Given the description of an element on the screen output the (x, y) to click on. 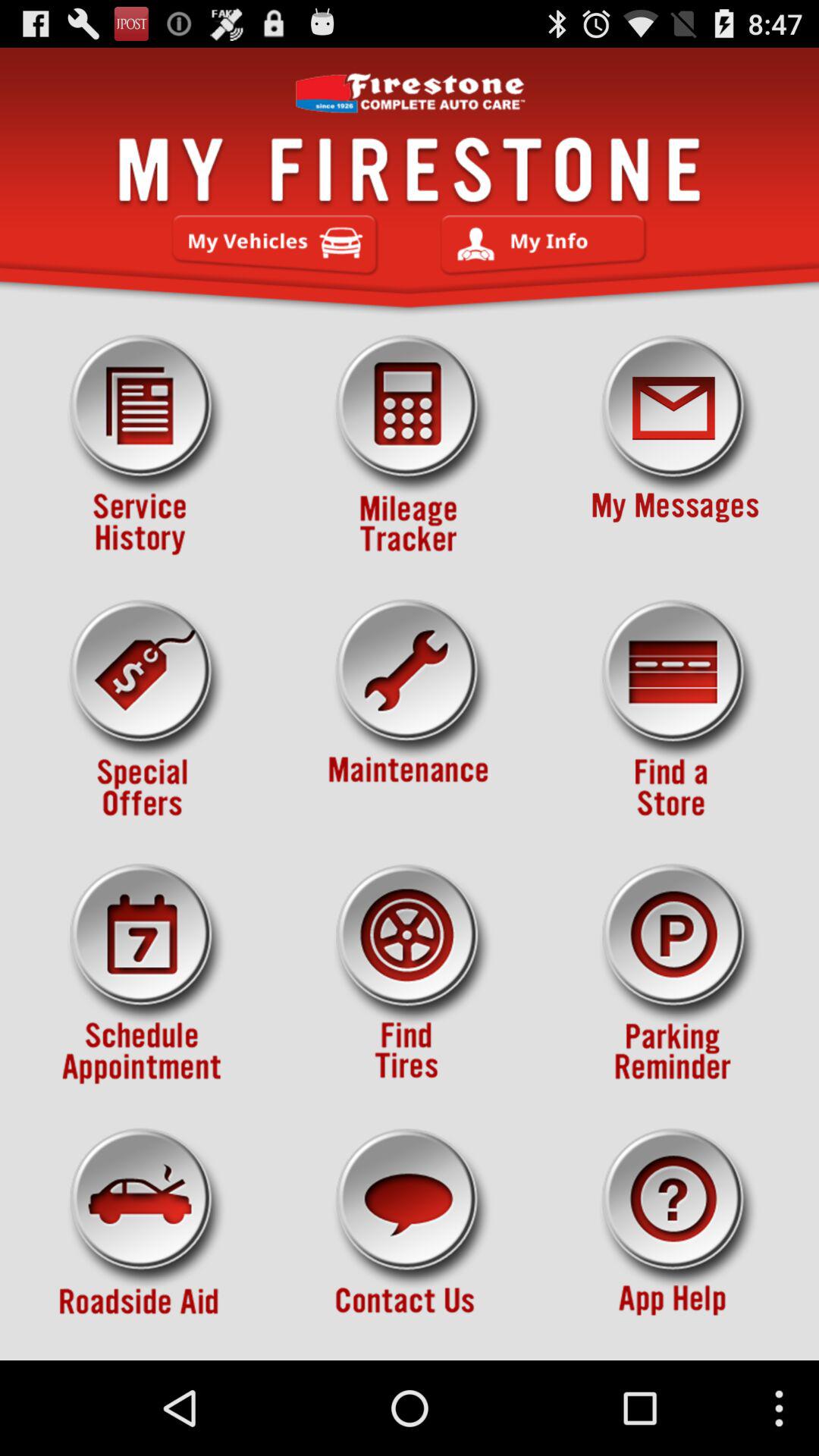
roadsie (143, 1238)
